Given the description of an element on the screen output the (x, y) to click on. 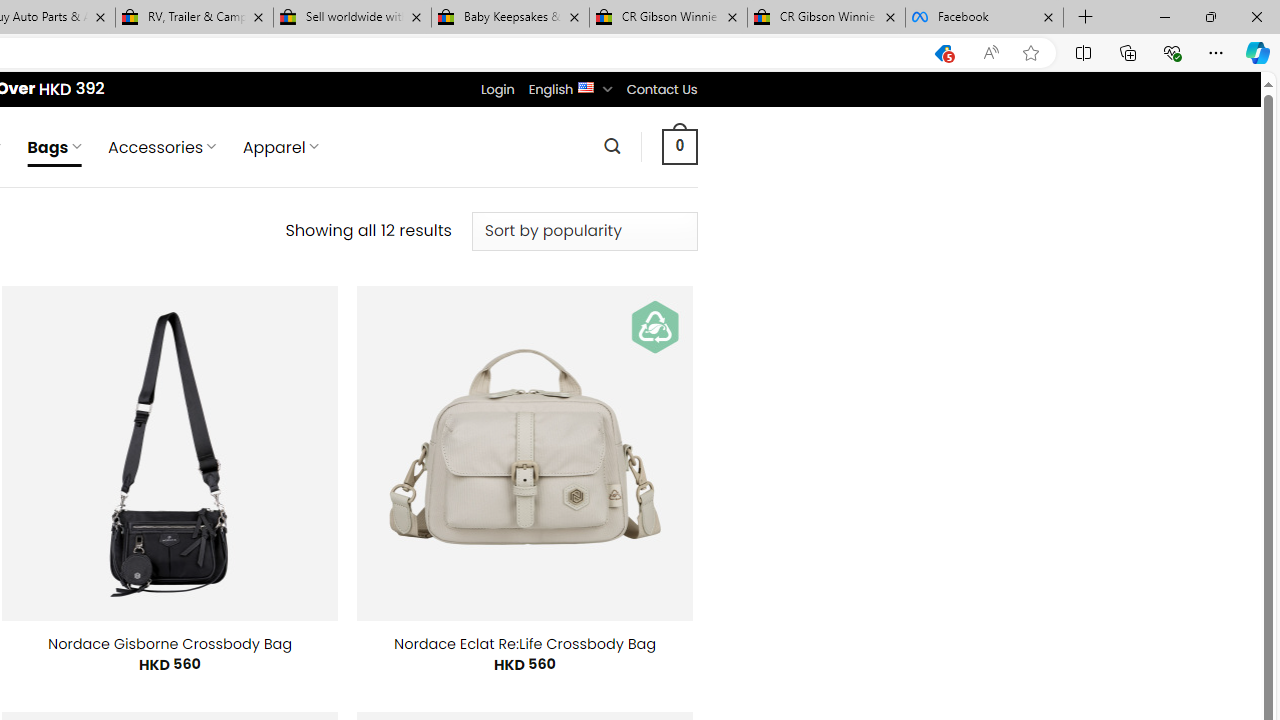
Facebook (984, 17)
Shop order (584, 231)
Sell worldwide with eBay (352, 17)
This site has coupons! Shopping in Microsoft Edge, 5 (943, 53)
